Given the description of an element on the screen output the (x, y) to click on. 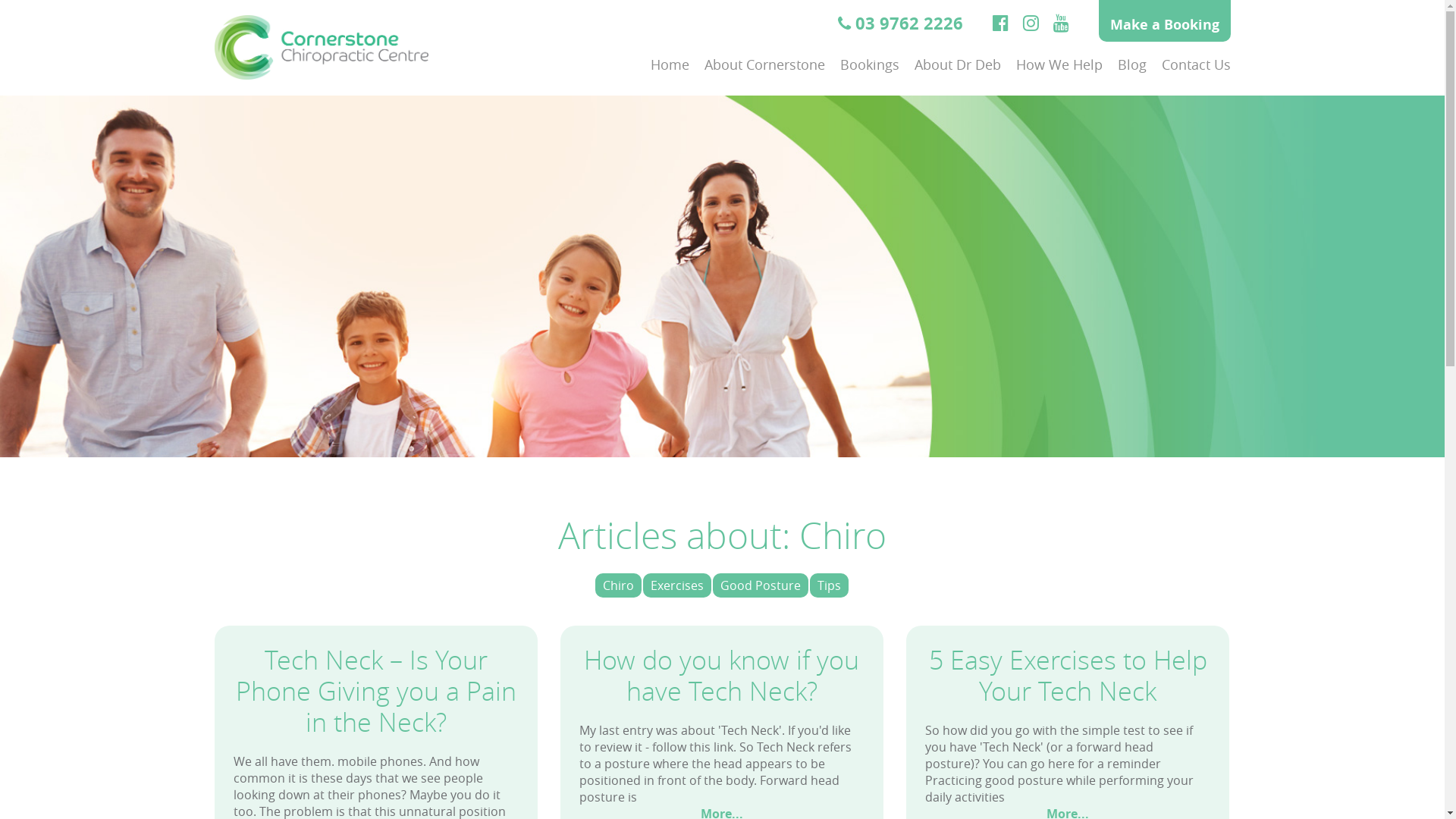
Contact Us Element type: text (1195, 64)
About Dr Deb Element type: text (957, 64)
Tips Element type: text (828, 585)
03 9762 2226 Element type: text (899, 22)
About Cornerstone Element type: text (763, 64)
How do you know if you have Tech Neck? Element type: text (721, 675)
How We Help Element type: text (1059, 64)
Good Posture Element type: text (760, 585)
Exercises Element type: text (677, 585)
5 Easy Exercises to Help Your Tech Neck Element type: text (1067, 675)
Chiro Element type: text (617, 585)
Blog Element type: text (1131, 64)
Make a Booking Element type: text (1164, 20)
Home Element type: text (669, 64)
Bookings Element type: text (869, 64)
